Given the description of an element on the screen output the (x, y) to click on. 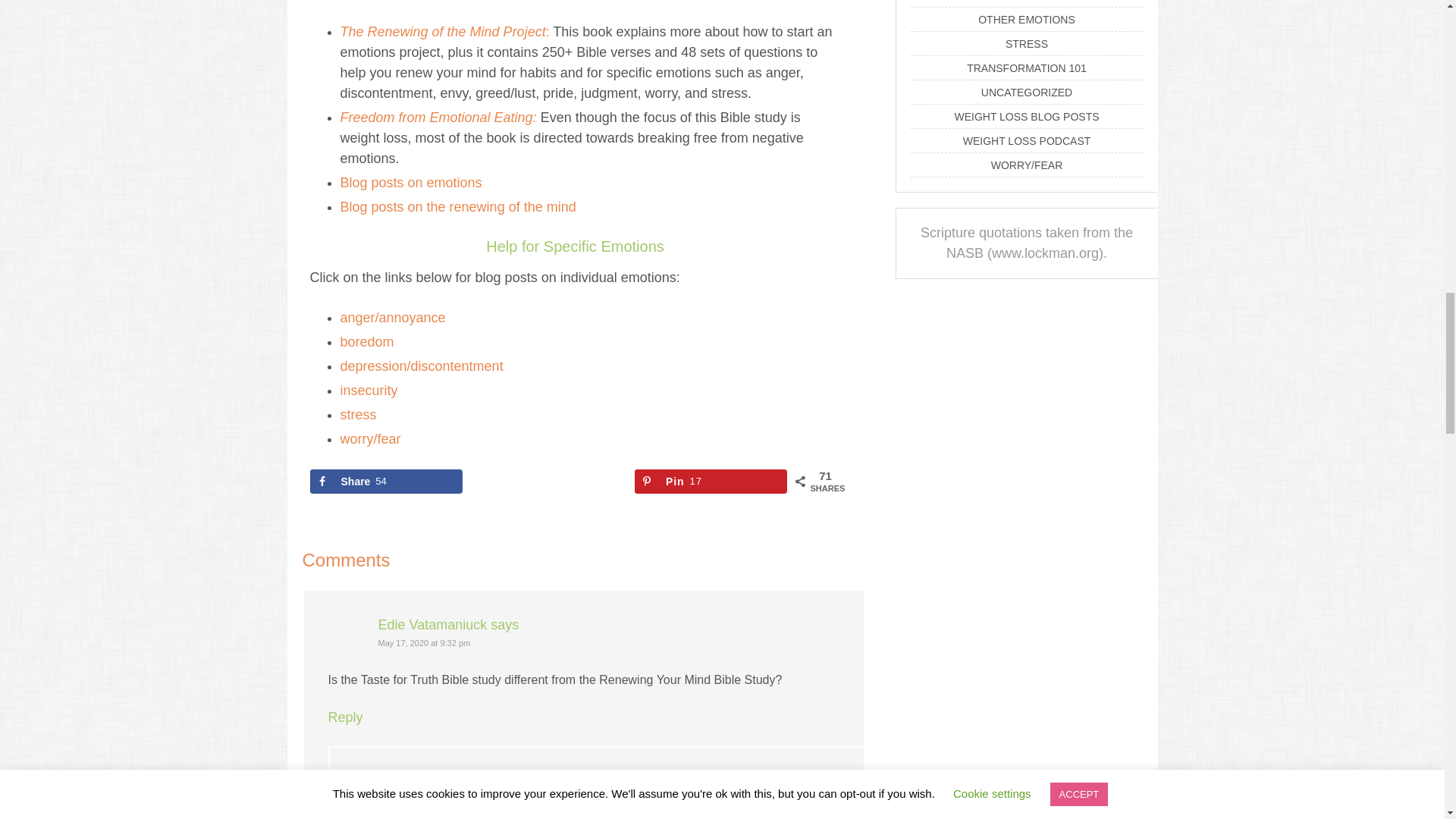
Save to Pinterest (710, 480)
Share on Facebook (385, 480)
Share on X (548, 480)
